Given the description of an element on the screen output the (x, y) to click on. 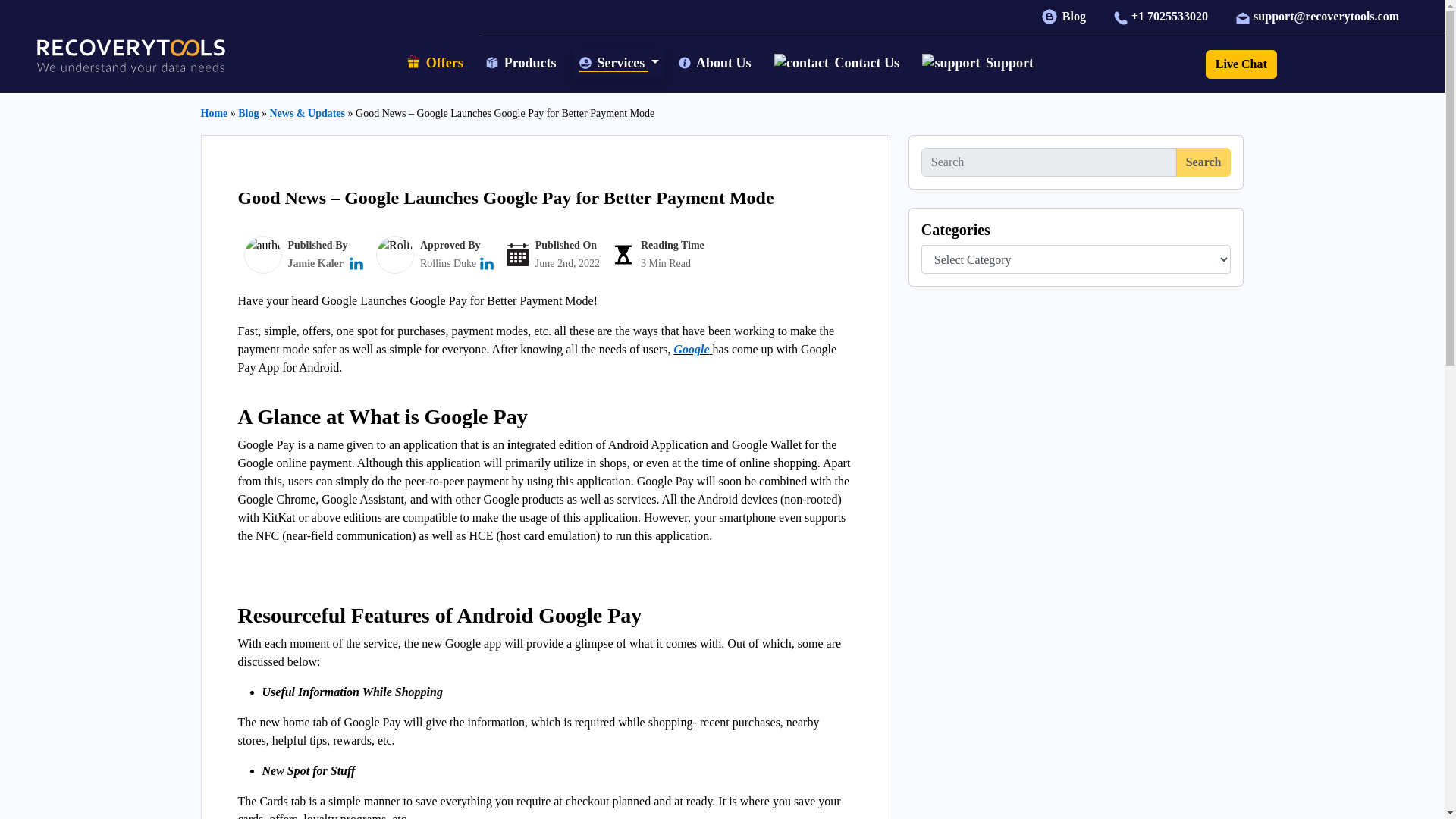
Offers  (435, 63)
Jamie Kaler (315, 263)
About Us  (716, 62)
Blog (1065, 15)
Products  (523, 62)
Live Chat (1240, 63)
Contact Us  (838, 63)
Search (1203, 162)
Home (213, 112)
Blog (248, 112)
